Given the description of an element on the screen output the (x, y) to click on. 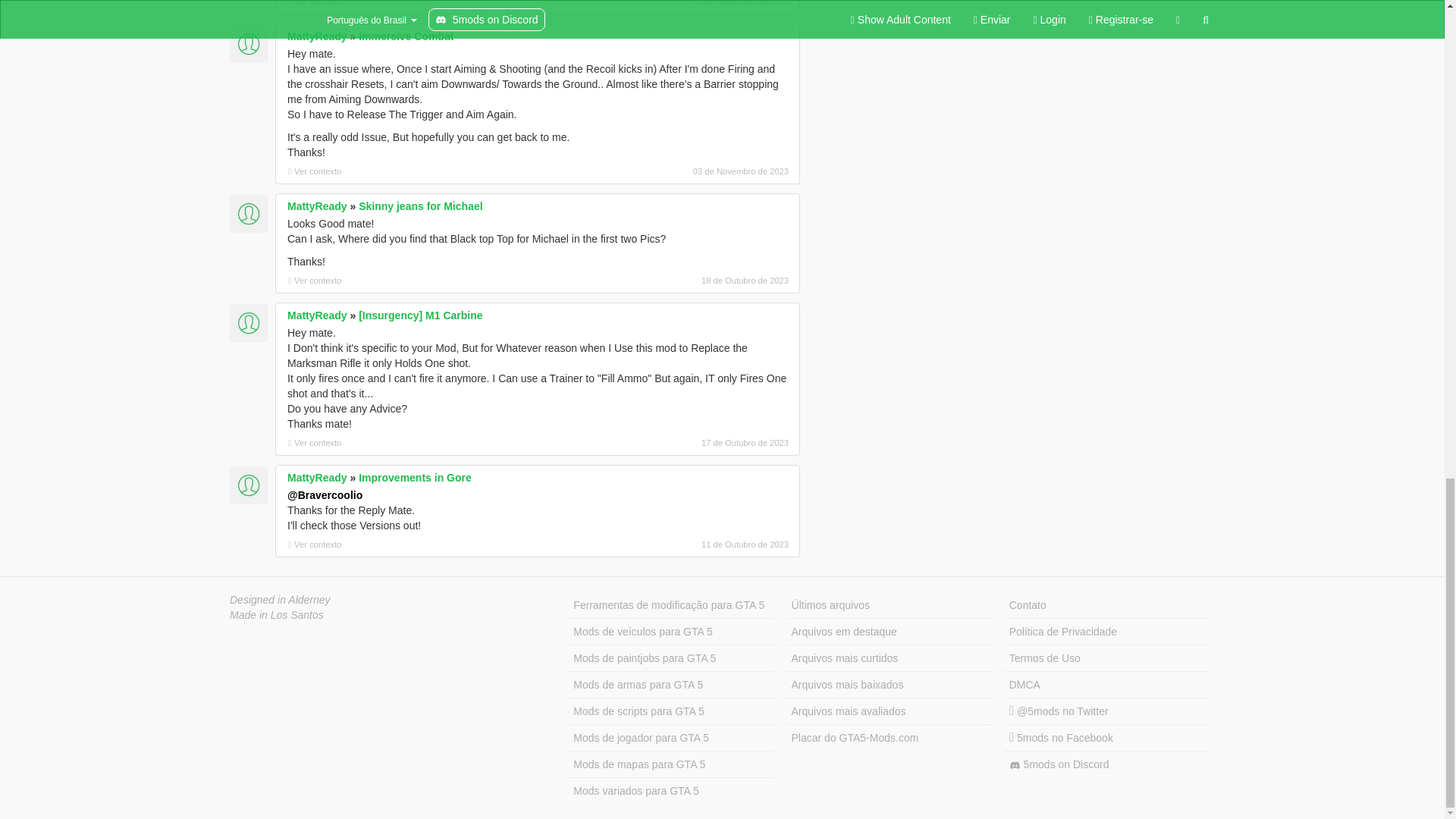
5mods no Facebook (1106, 737)
5mods on Discord (1106, 764)
